Given the description of an element on the screen output the (x, y) to click on. 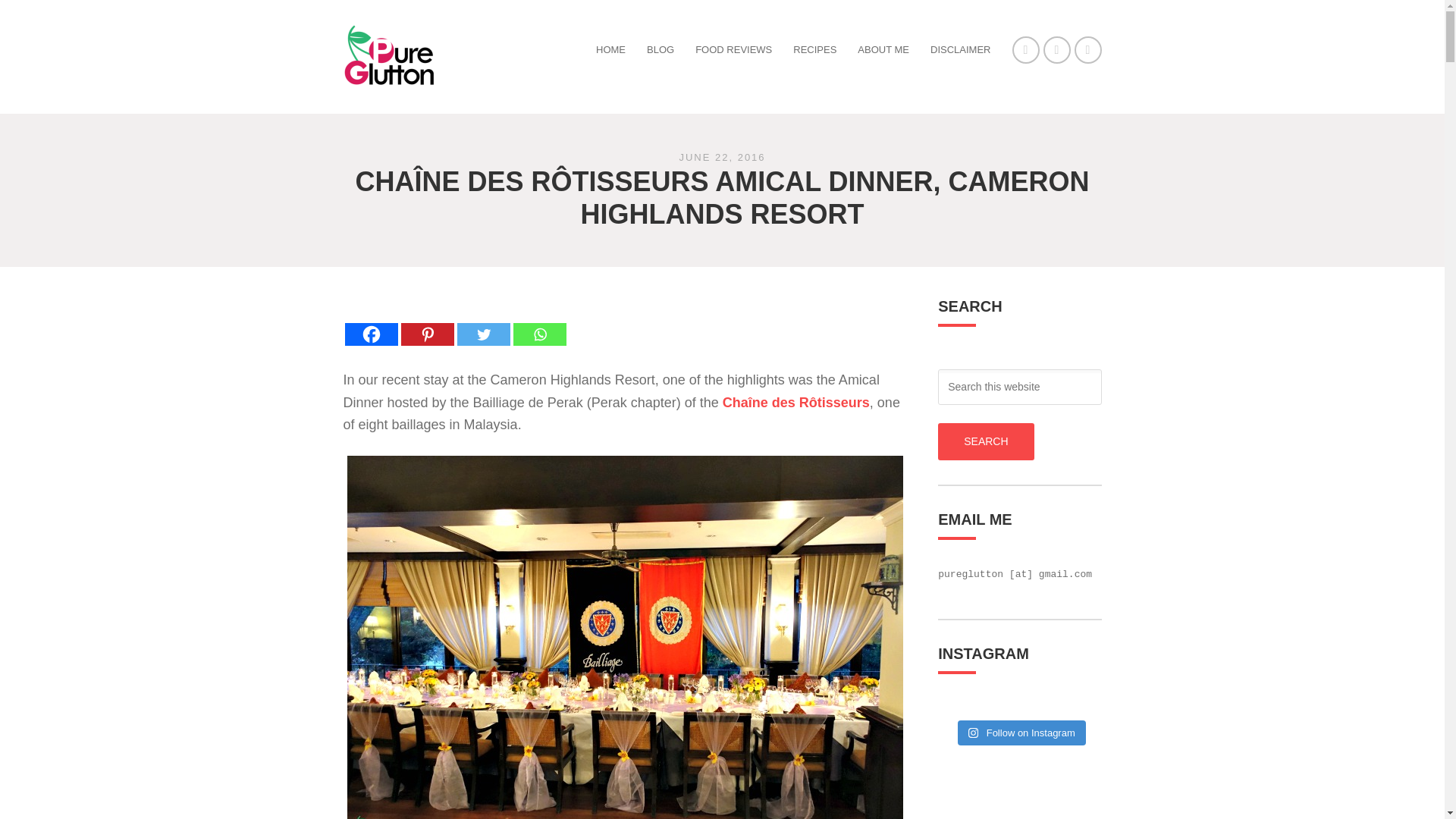
ABOUT ME (882, 49)
HOME (610, 49)
Whatsapp (539, 322)
Facebook (370, 322)
BLOG (660, 49)
Search (985, 441)
RECIPES (814, 49)
Pinterest (426, 322)
FOOD REVIEWS (733, 49)
Search (985, 441)
DISCLAIMER (960, 49)
Twitter (483, 322)
